Given the description of an element on the screen output the (x, y) to click on. 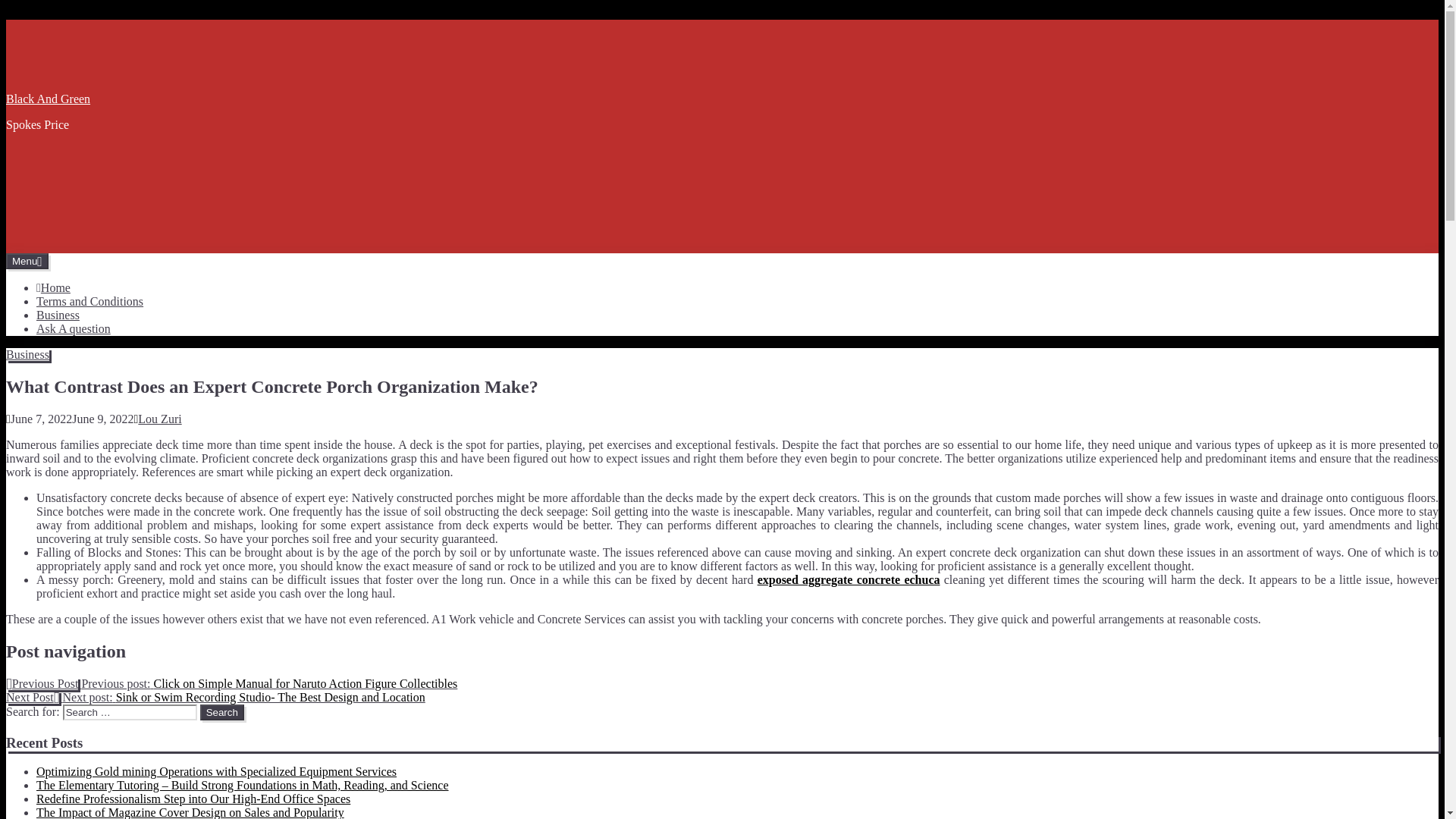
Search (222, 712)
Menu (26, 261)
Search (222, 712)
Business (27, 354)
Search (222, 712)
Terms and Conditions (89, 300)
Lou Zuri (159, 418)
